Given the description of an element on the screen output the (x, y) to click on. 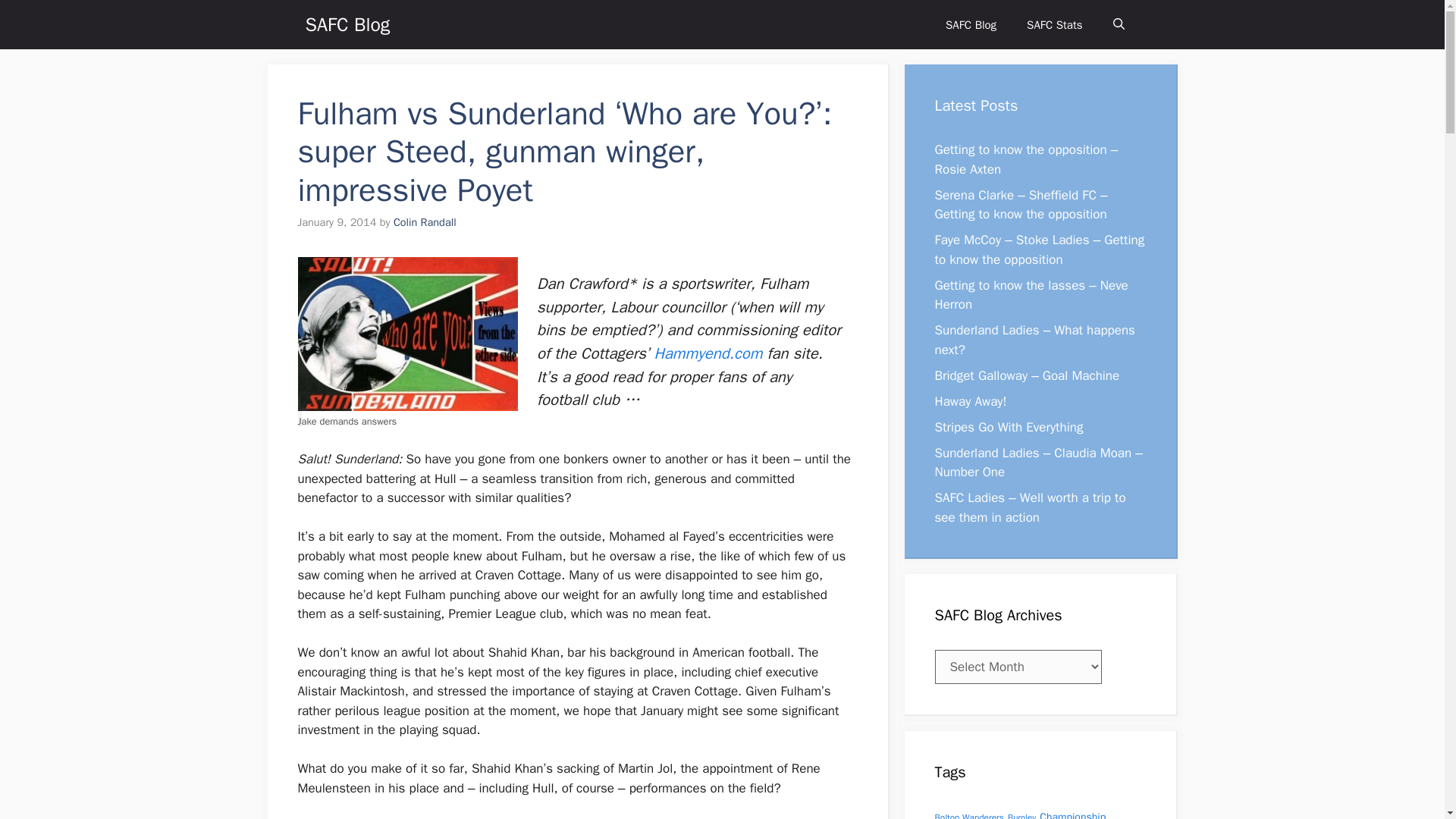
Championship (1072, 814)
Hammyend.com (707, 353)
SAFC Blog (347, 24)
SAFC Blog (970, 23)
Haway Away! (970, 400)
SAFC Stats (1054, 23)
View all posts by Colin Randall (425, 222)
Bolton Wanderers (968, 815)
Burnley (1021, 815)
Colin Randall (425, 222)
